Given the description of an element on the screen output the (x, y) to click on. 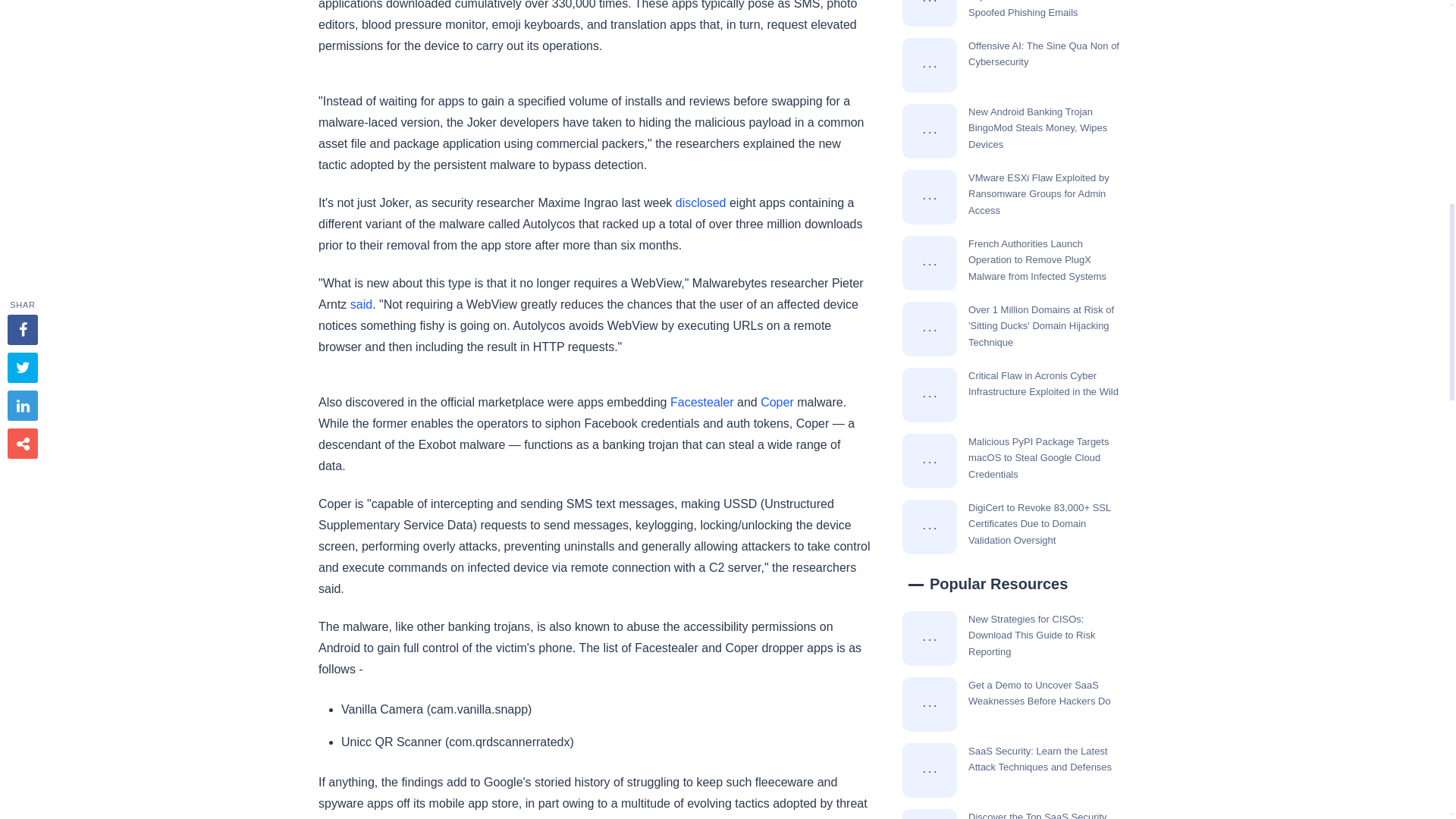
Offensive AI: The Sine Qua Non of Cybersecurity (929, 64)
